Given the description of an element on the screen output the (x, y) to click on. 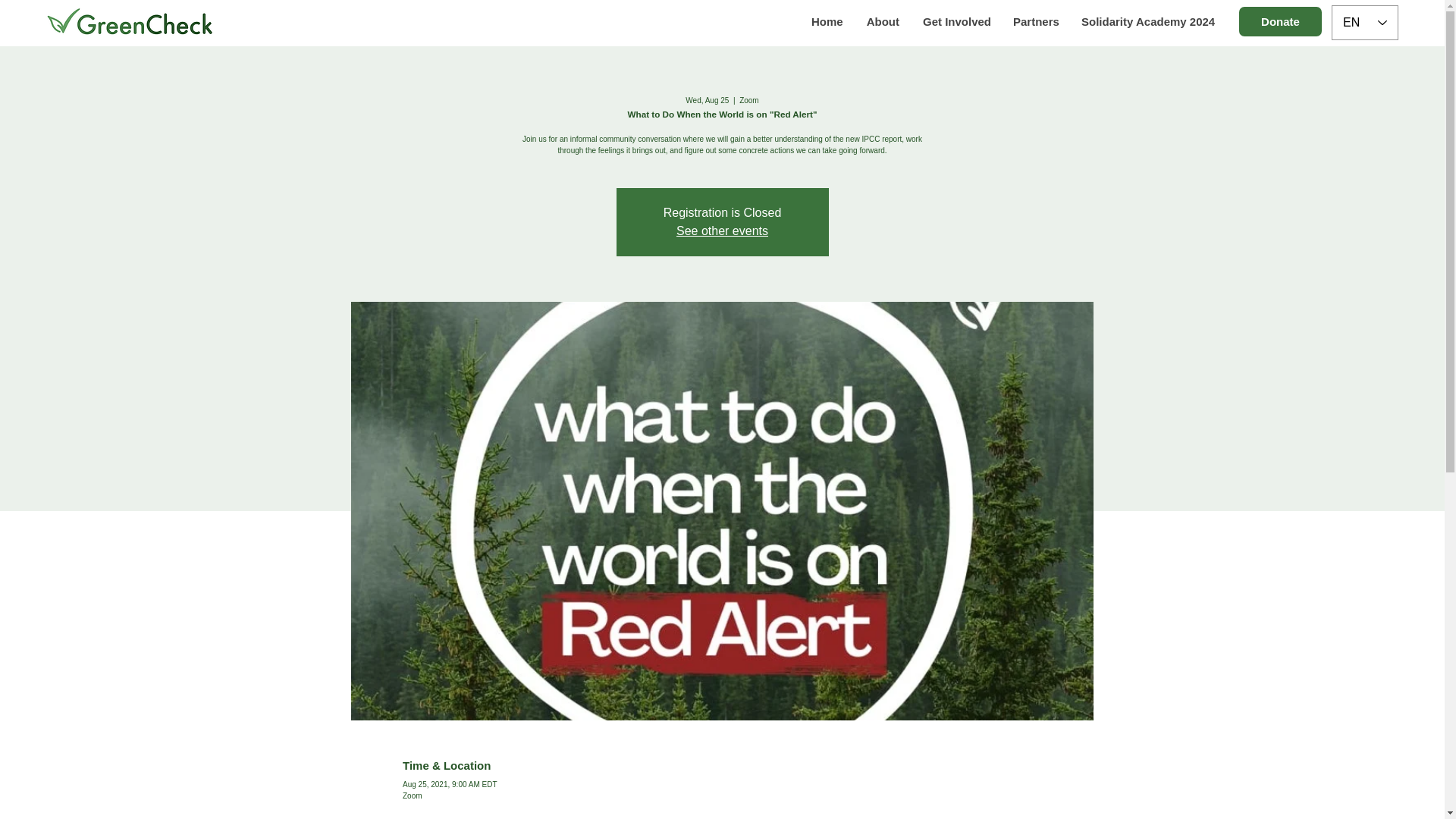
Partners (1034, 21)
Get Involved (956, 21)
About (882, 21)
Donate (1280, 21)
Solidarity Academy 2024 (1145, 21)
Home (826, 21)
See other events (722, 230)
